Given the description of an element on the screen output the (x, y) to click on. 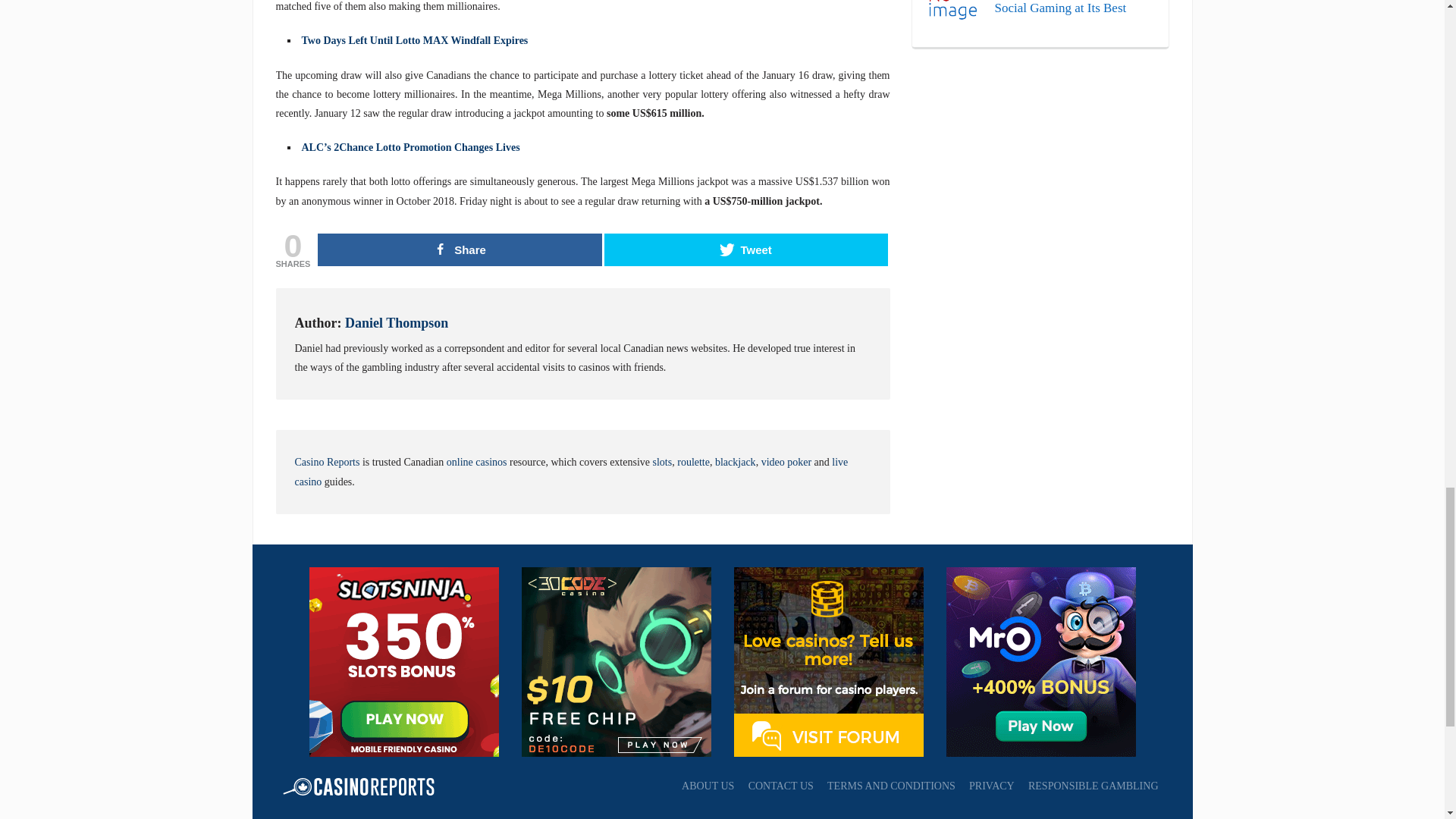
Latest Casino Bonuses Forum (828, 660)
